Given the description of an element on the screen output the (x, y) to click on. 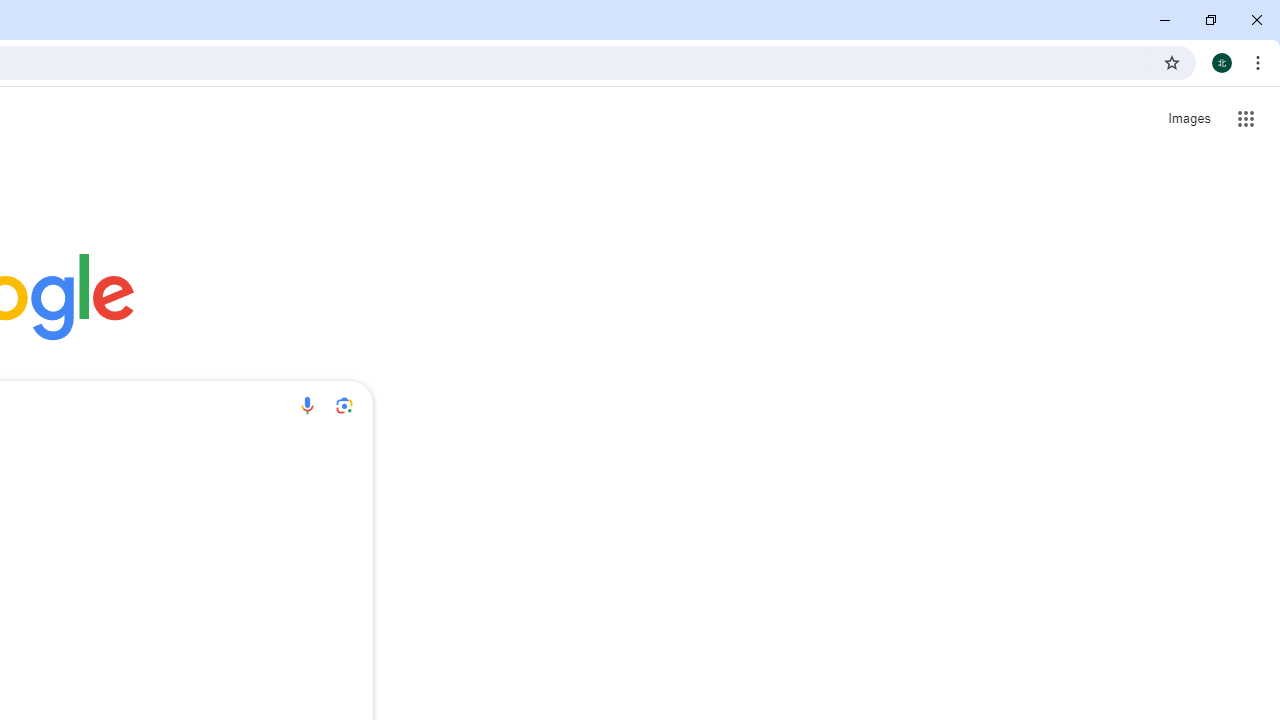
More actions for Web Store shortcut (152, 464)
Add shortcut (223, 502)
More actions for Sign in shortcut (39, 464)
Web Store (111, 502)
